Given the description of an element on the screen output the (x, y) to click on. 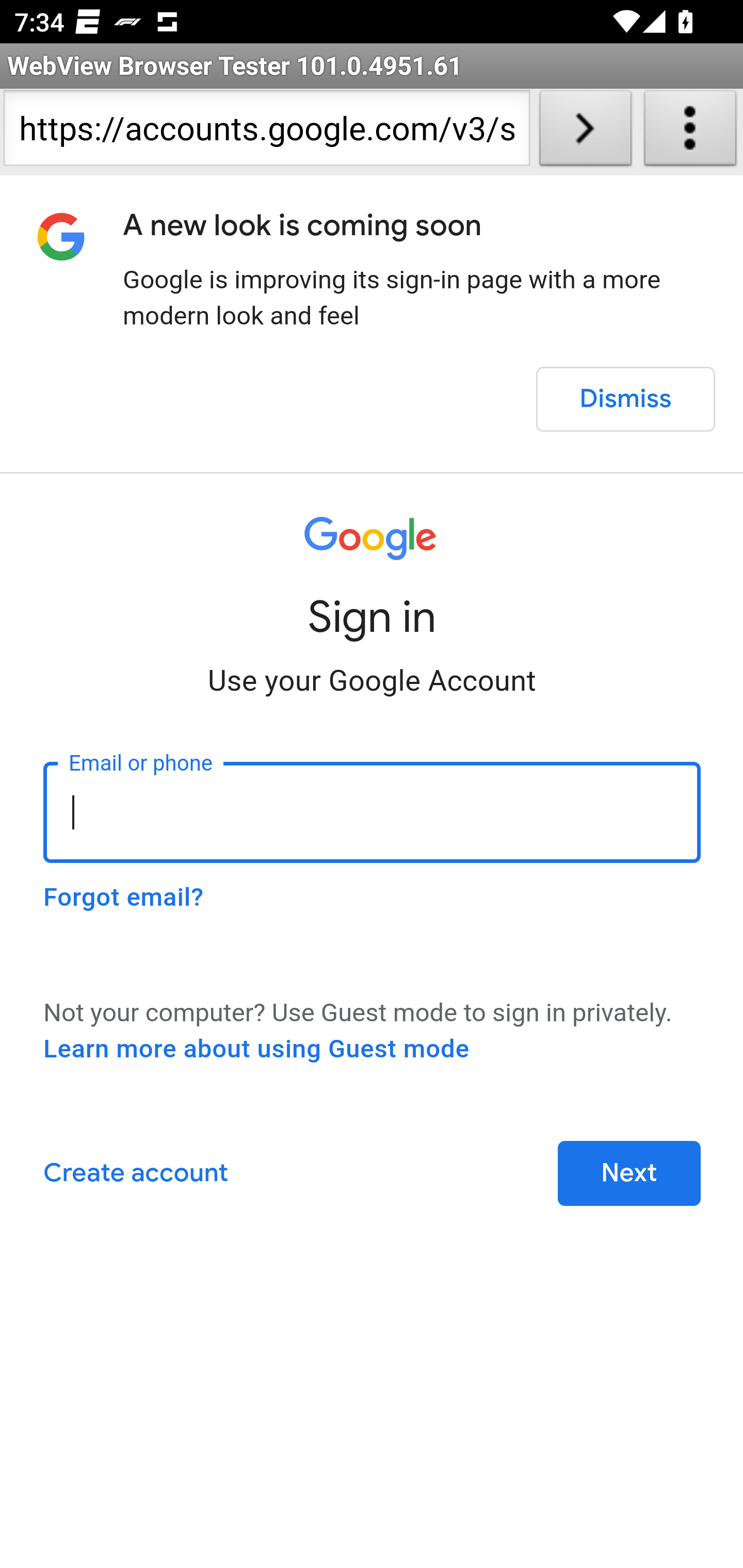
Load URL (585, 132)
About WebView (690, 132)
Dismiss (625, 398)
Forgot email? (123, 897)
Learn more about using Guest mode (256, 1048)
Create account (134, 1173)
Next (629, 1173)
